Given the description of an element on the screen output the (x, y) to click on. 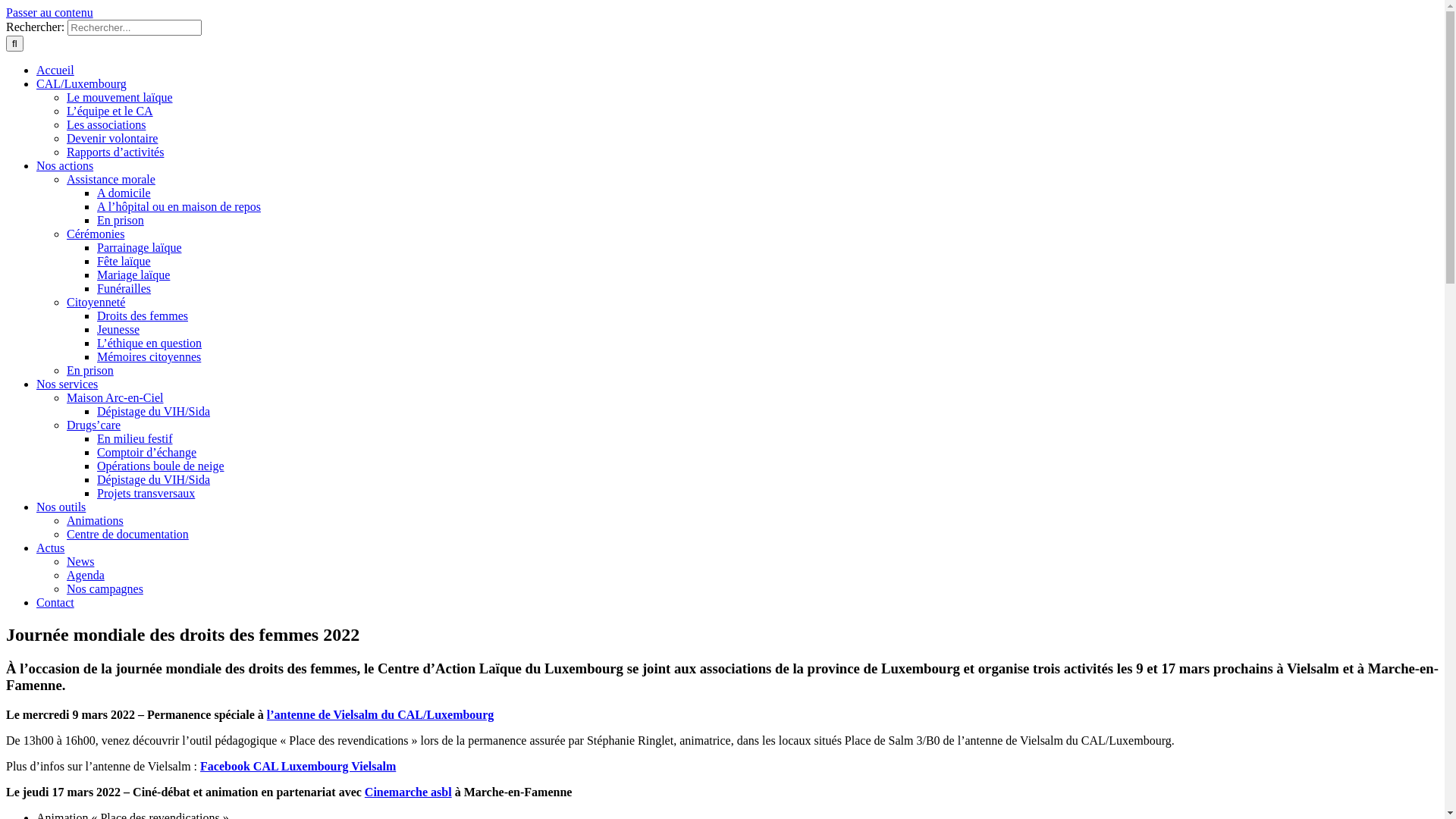
En prison Element type: text (120, 219)
Nos outils Element type: text (60, 506)
Actus Element type: text (50, 547)
En milieu festif Element type: text (134, 438)
Projets transversaux Element type: text (145, 492)
Jeunesse Element type: text (118, 329)
Maison Arc-en-Ciel Element type: text (114, 397)
Devenir volontaire Element type: text (111, 137)
A domicile Element type: text (123, 192)
Nos actions Element type: text (64, 165)
Nos services Element type: text (66, 383)
Passer au contenu Element type: text (49, 12)
Contact Element type: text (55, 602)
Nos campagnes Element type: text (104, 588)
Agenda Element type: text (85, 574)
En prison Element type: text (89, 370)
Assistance morale Element type: text (110, 178)
Droits des femmes Element type: text (142, 315)
Les associations Element type: text (105, 124)
CAL/Luxembourg Element type: text (81, 83)
Animations Element type: text (94, 520)
Cinemarche asbl Element type: text (407, 791)
News Element type: text (80, 561)
Centre de documentation Element type: text (127, 533)
Facebook CAL Luxembourg Vielsalm Element type: text (297, 765)
Accueil Element type: text (55, 69)
